Given the description of an element on the screen output the (x, y) to click on. 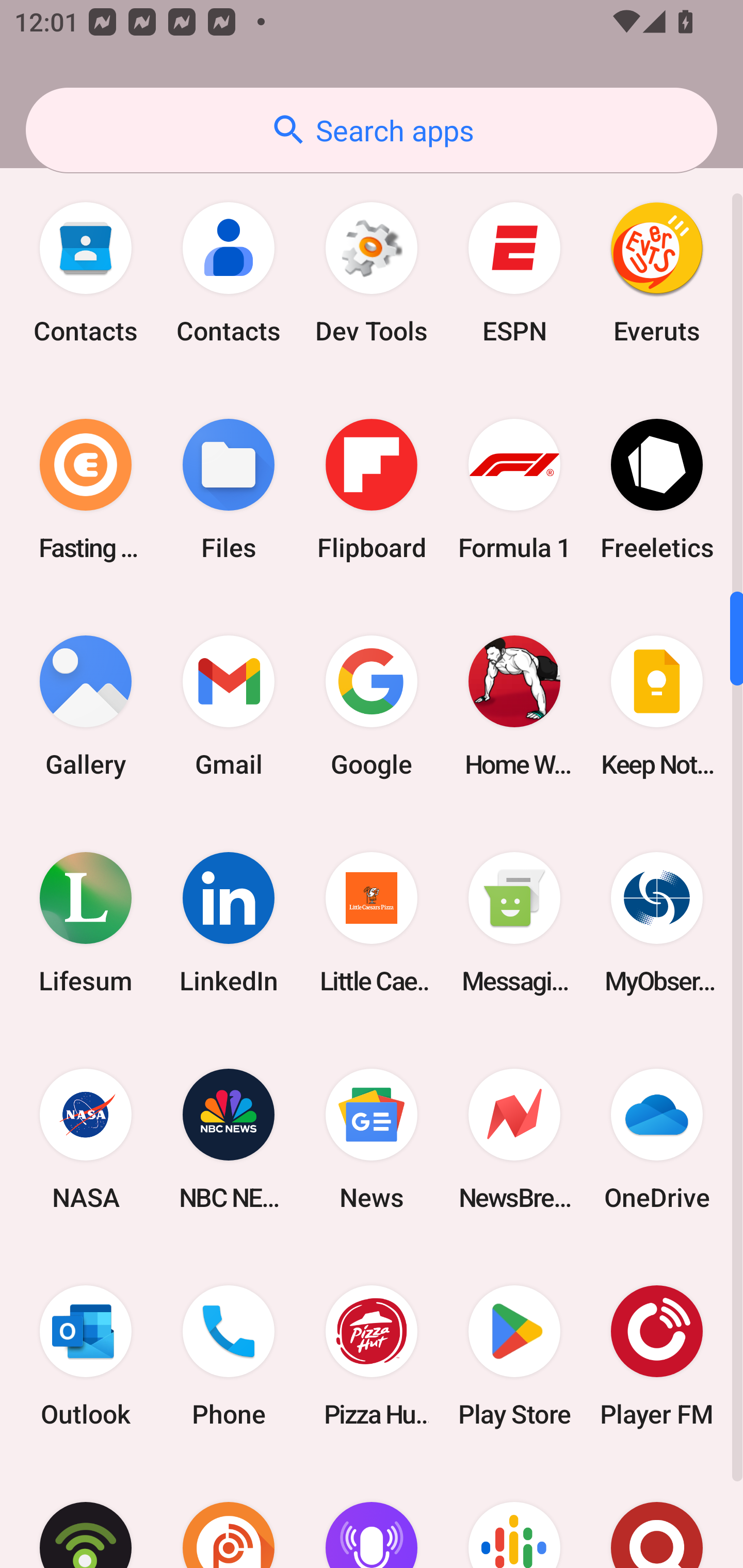
  Search apps (371, 130)
Contacts (85, 272)
Contacts (228, 272)
Dev Tools (371, 272)
ESPN (514, 272)
Everuts (656, 272)
Fasting Coach (85, 489)
Files (228, 489)
Flipboard (371, 489)
Formula 1 (514, 489)
Freeletics (656, 489)
Gallery (85, 705)
Gmail (228, 705)
Google (371, 705)
Home Workout (514, 705)
Keep Notes (656, 705)
Lifesum (85, 922)
LinkedIn (228, 922)
Little Caesars Pizza (371, 922)
Messaging (514, 922)
MyObservatory (656, 922)
NASA (85, 1139)
NBC NEWS (228, 1139)
News (371, 1139)
NewsBreak (514, 1139)
OneDrive (656, 1139)
Outlook (85, 1356)
Phone (228, 1356)
Pizza Hut HK & Macau (371, 1356)
Play Store (514, 1356)
Player FM (656, 1356)
Podbean (85, 1516)
Podcast Addict (228, 1516)
Podcast Player (371, 1516)
Podcasts (514, 1516)
Quora (656, 1516)
